Given the description of an element on the screen output the (x, y) to click on. 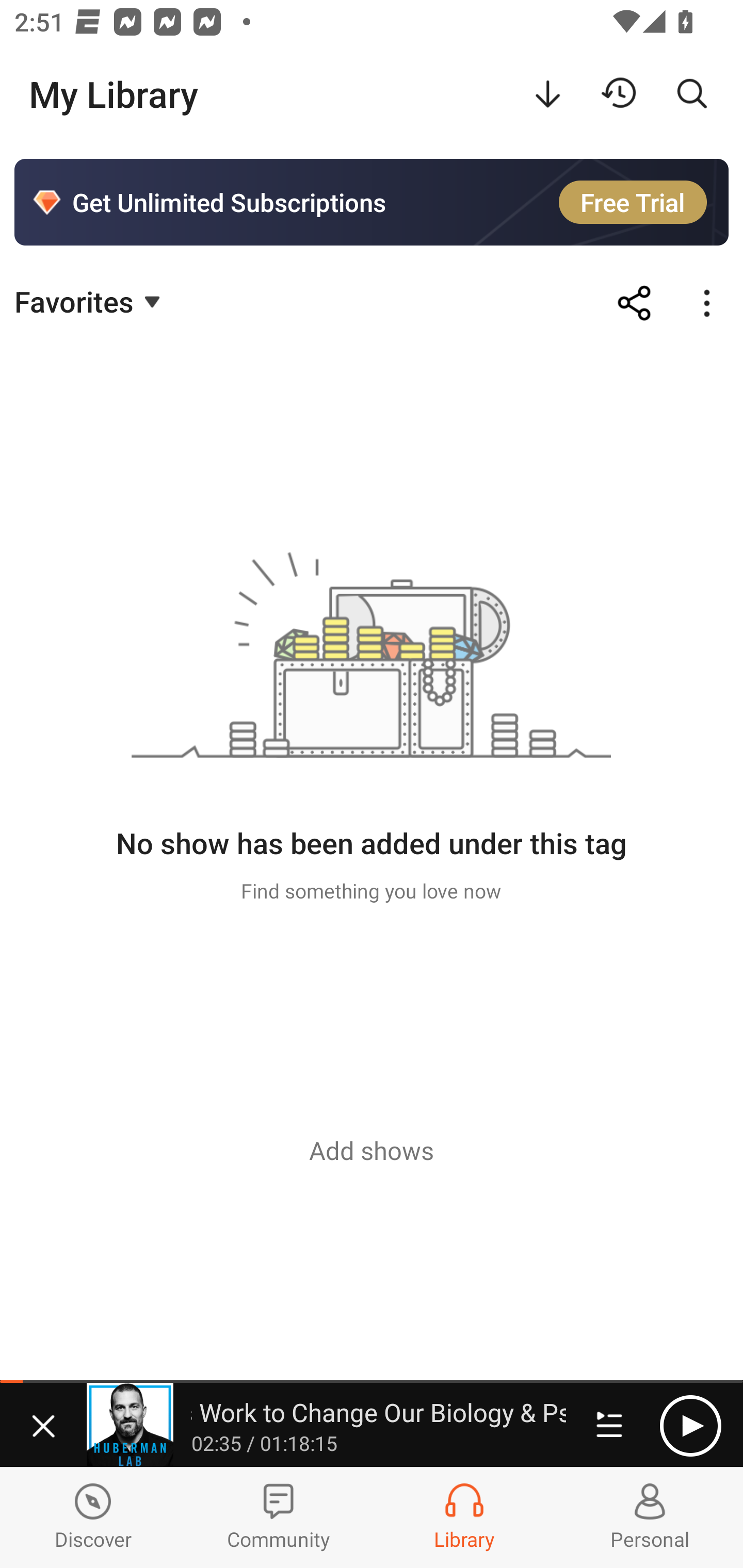
Get Unlimited Subscriptions Free Trial (371, 202)
Free Trial (632, 202)
Favorites (90, 300)
Add shows (371, 1150)
Play (690, 1425)
Discover (92, 1517)
Community (278, 1517)
Library (464, 1517)
Profiles and Settings Personal (650, 1517)
